Given the description of an element on the screen output the (x, y) to click on. 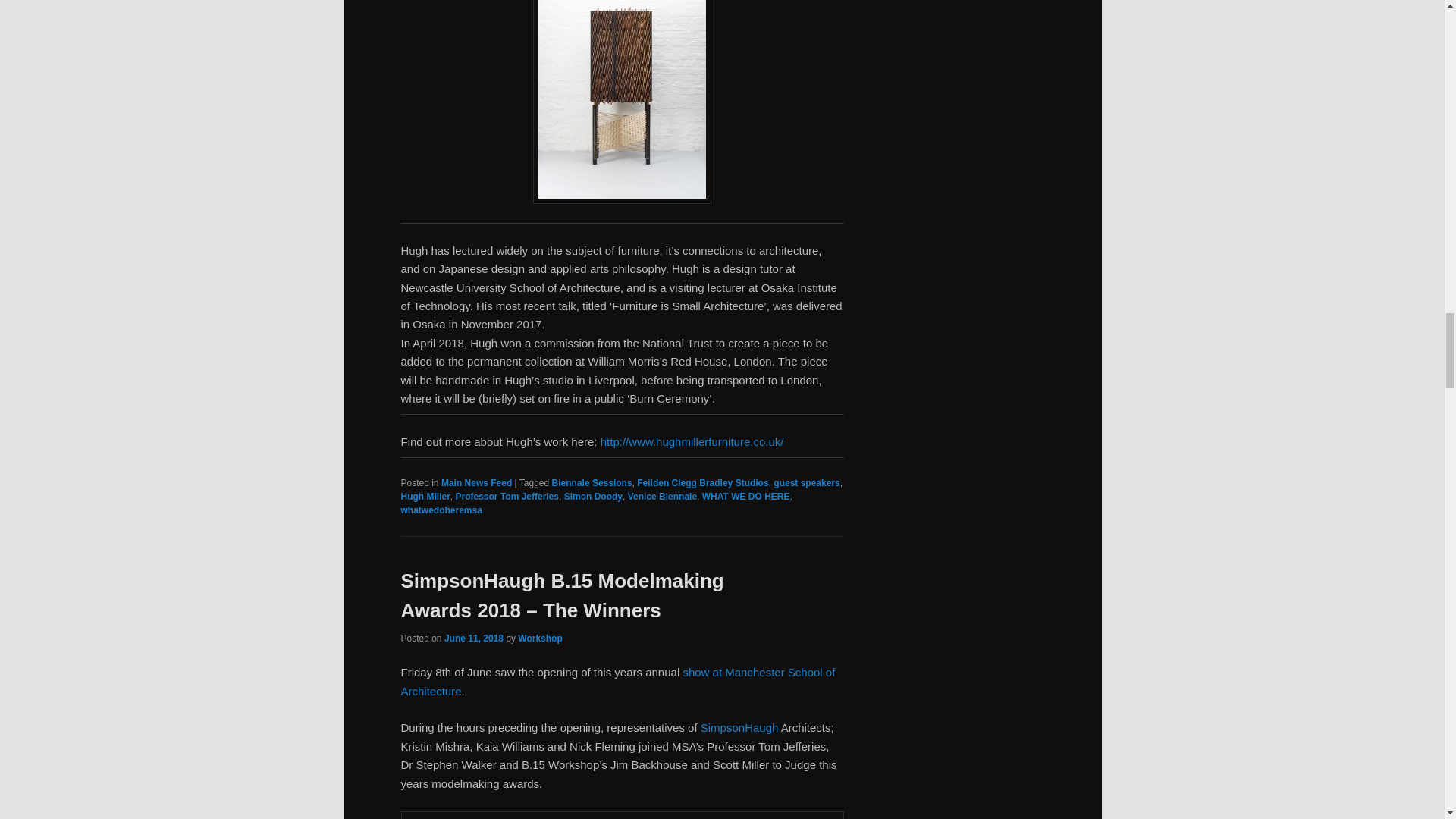
Feilden Clegg Bradley Studios (702, 482)
guest speakers (806, 482)
Main News Feed (476, 482)
Biennale Sessions (591, 482)
